Given the description of an element on the screen output the (x, y) to click on. 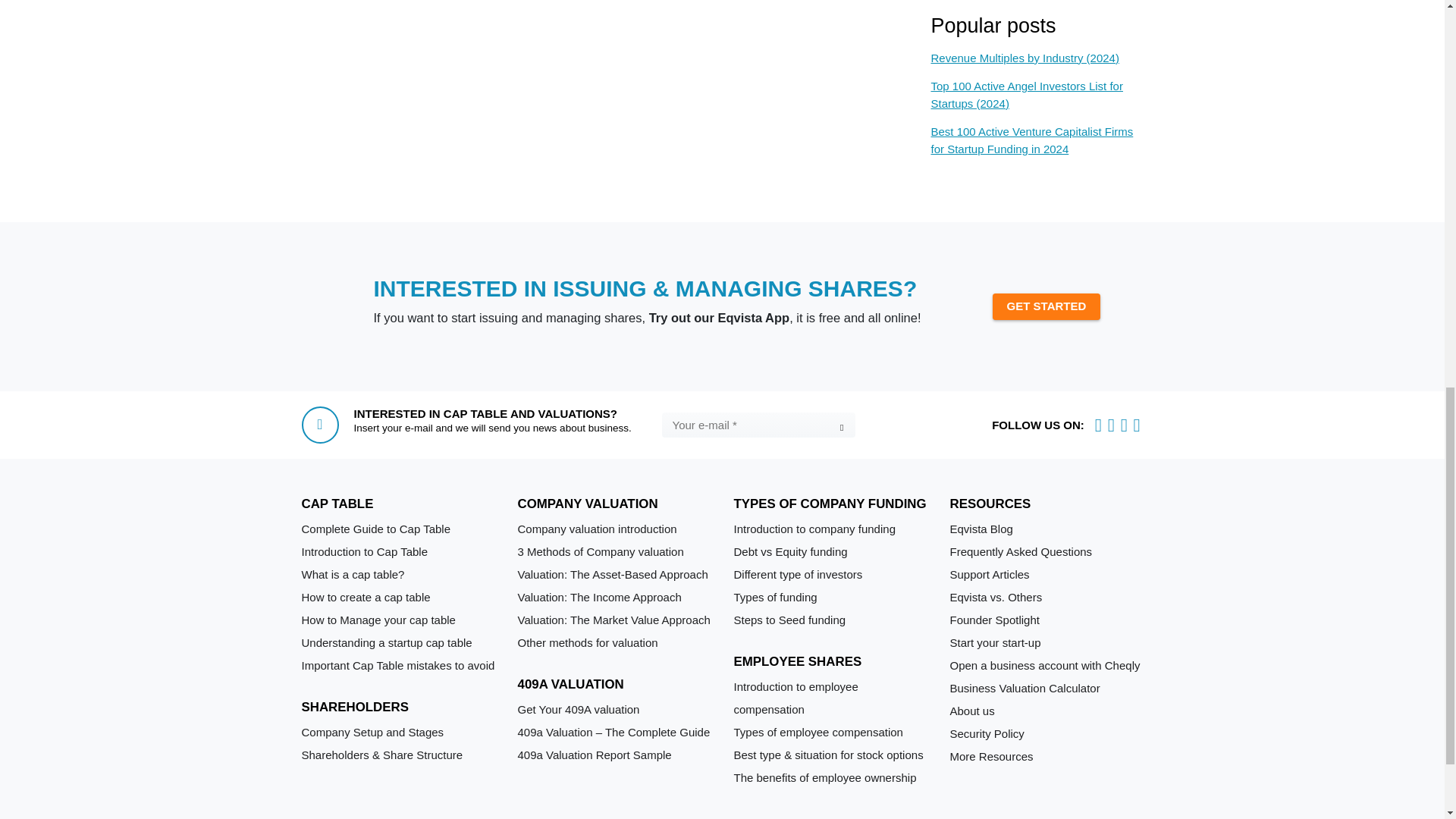
GET STARTED (1046, 306)
Your e-mail (757, 424)
Subscribe! (839, 427)
Subscribe! (839, 427)
